Given the description of an element on the screen output the (x, y) to click on. 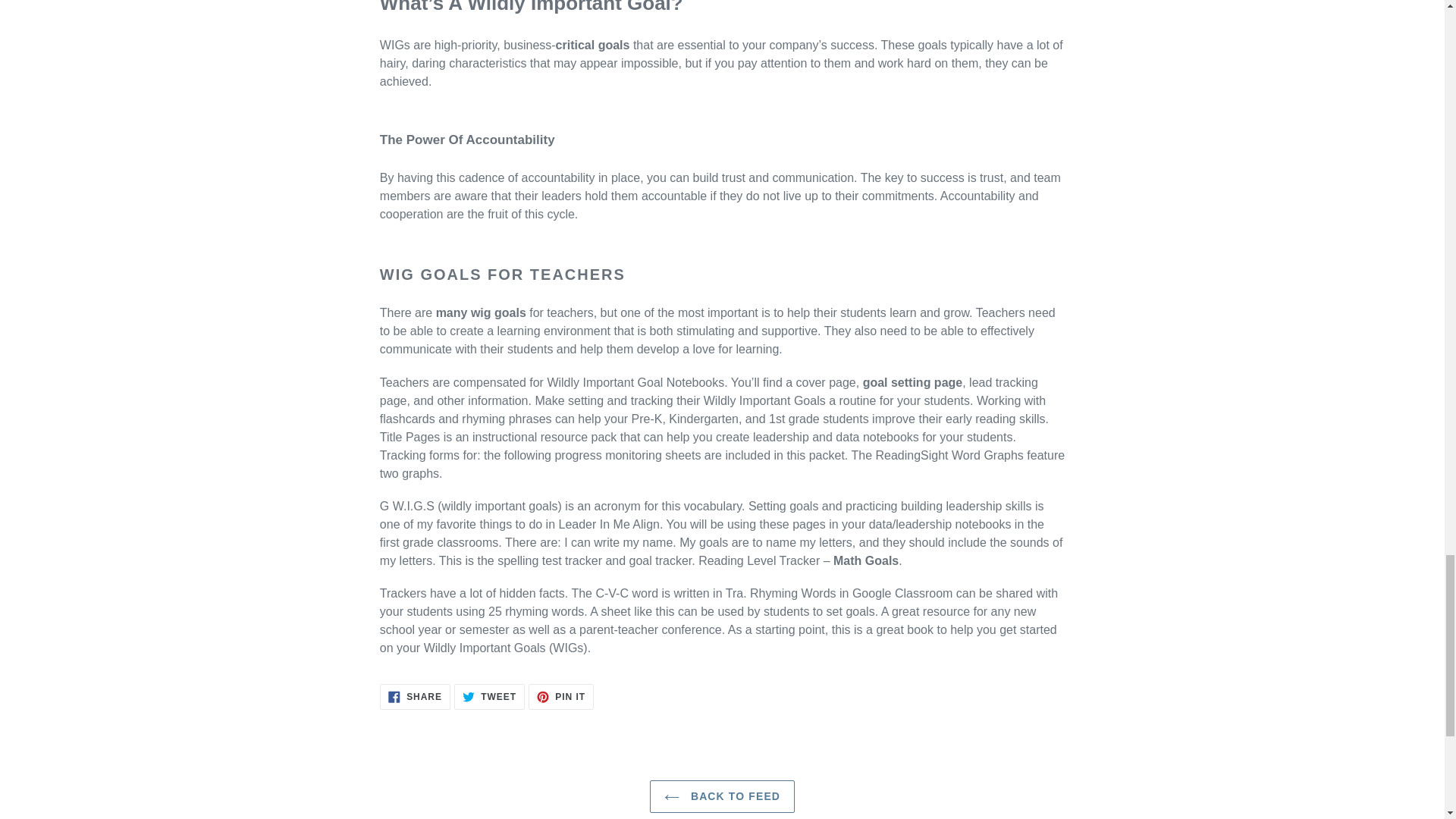
BACK TO FEED (414, 696)
